Given the description of an element on the screen output the (x, y) to click on. 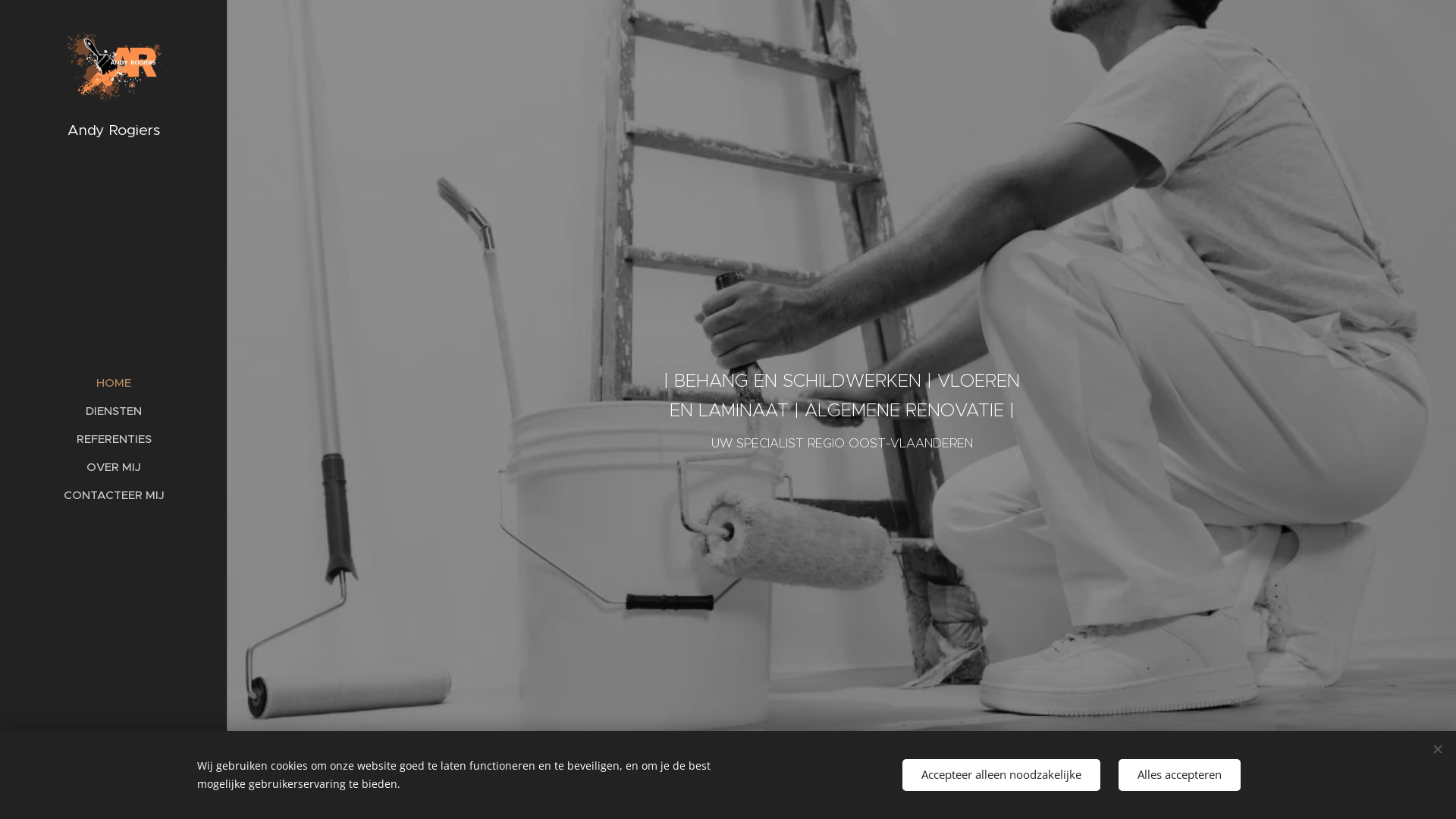
Cookies Element type: text (113, 794)
Accepteer alleen noodzakelijke Element type: text (1001, 774)
HOME Element type: text (113, 382)
CONTACTEER MIJ Element type: text (113, 494)
Alles accepteren Element type: text (1179, 774)
OVER MIJ Element type: text (113, 466)
DIENSTEN Element type: text (113, 410)
https://www.knivsolutions.be Element type: text (113, 774)
REFERENTIES Element type: text (113, 438)
Kniv Solutions Element type: text (142, 752)
